Given the description of an element on the screen output the (x, y) to click on. 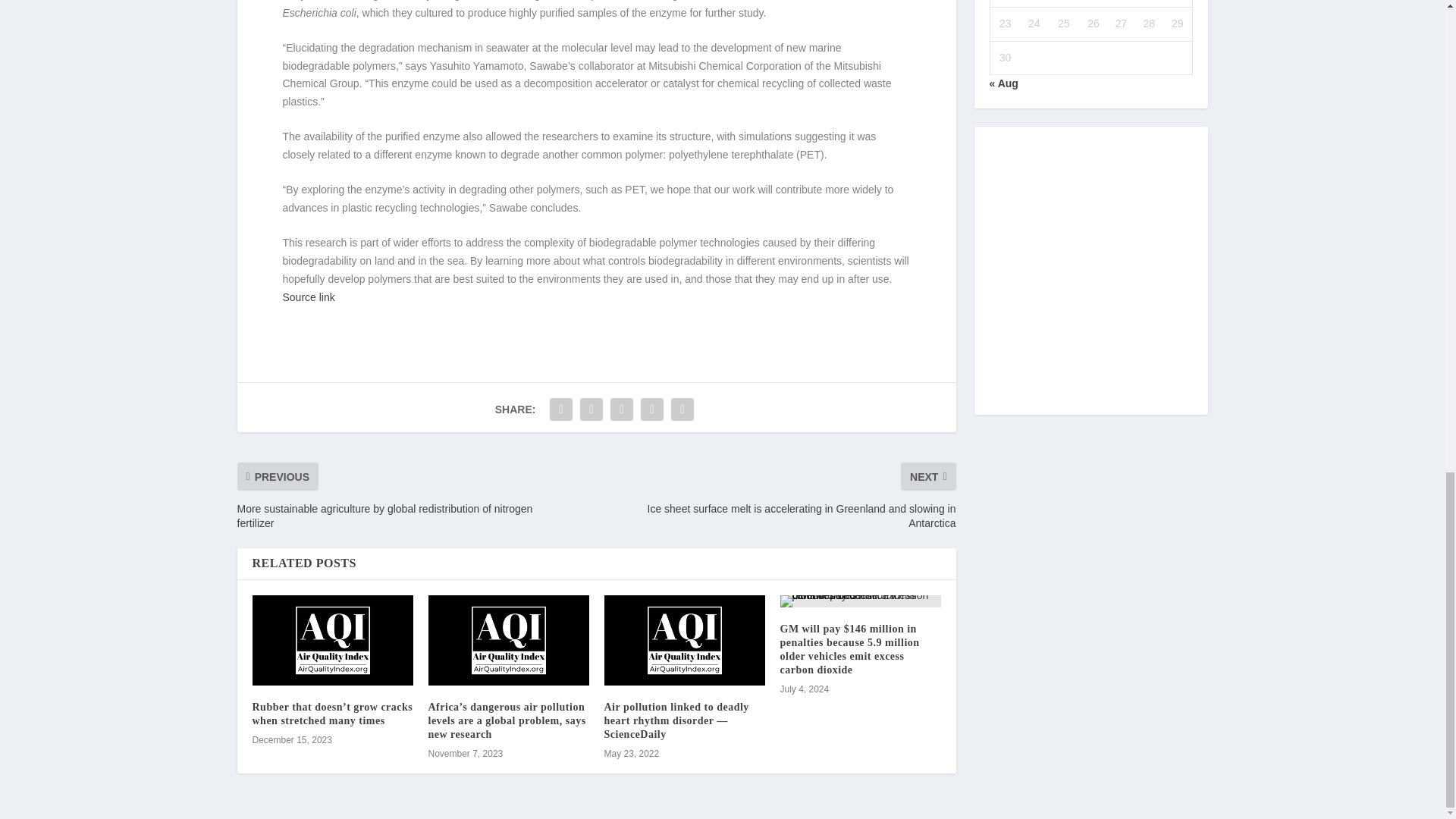
Source link (308, 297)
